Given the description of an element on the screen output the (x, y) to click on. 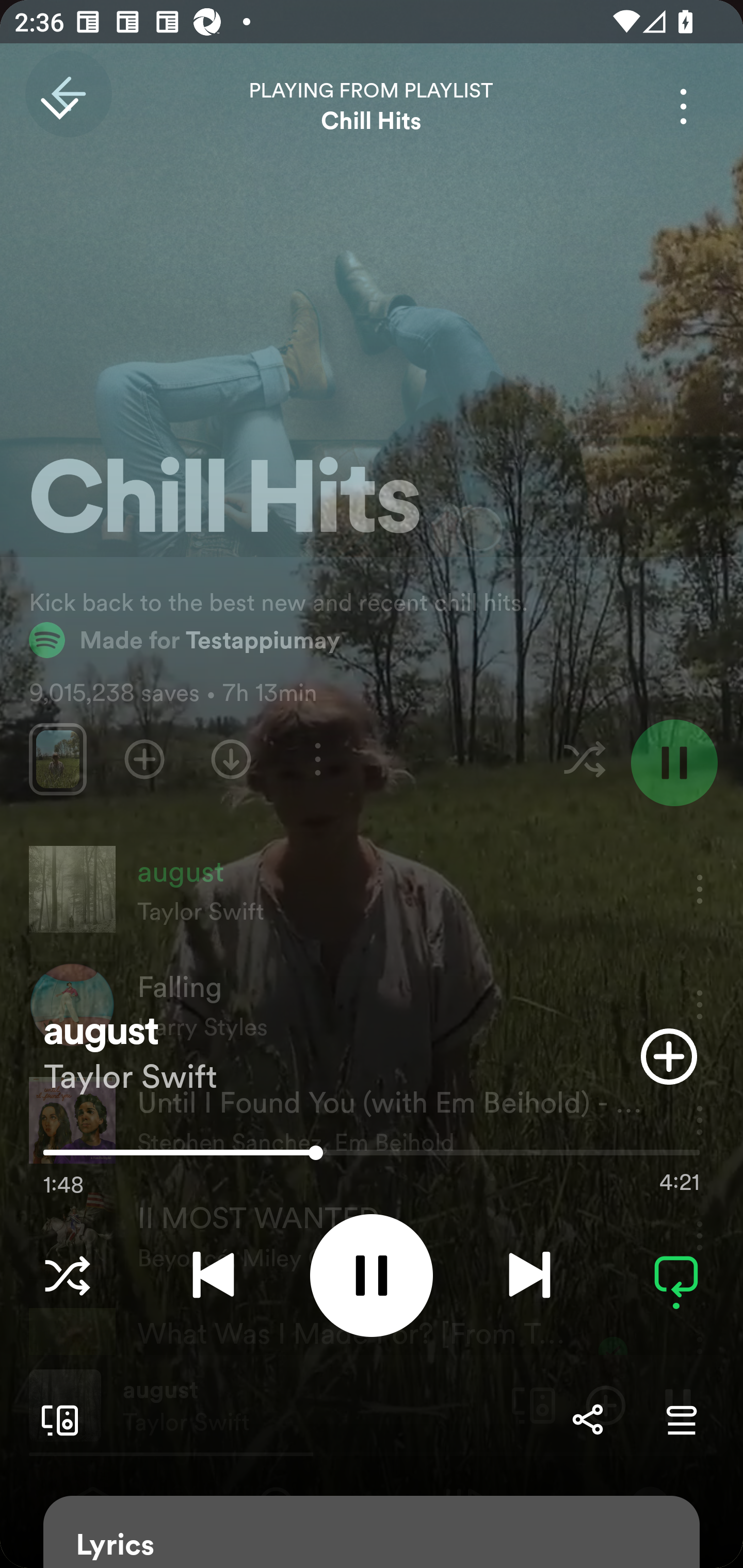
Close (59, 106)
More options for song august (683, 106)
PLAYING FROM PLAYLIST Chill Hits (371, 106)
Add item (669, 1056)
1:47 4:21 107967.0 Use volume keys to adjust (371, 1157)
Pause (371, 1275)
Previous (212, 1275)
Next (529, 1275)
Choose a Listening Mode (66, 1275)
Repeat (676, 1275)
Share (587, 1419)
Go to Queue (681, 1419)
Connect to a device. Opens the devices menu (55, 1419)
Lyrics (371, 1531)
